Given the description of an element on the screen output the (x, y) to click on. 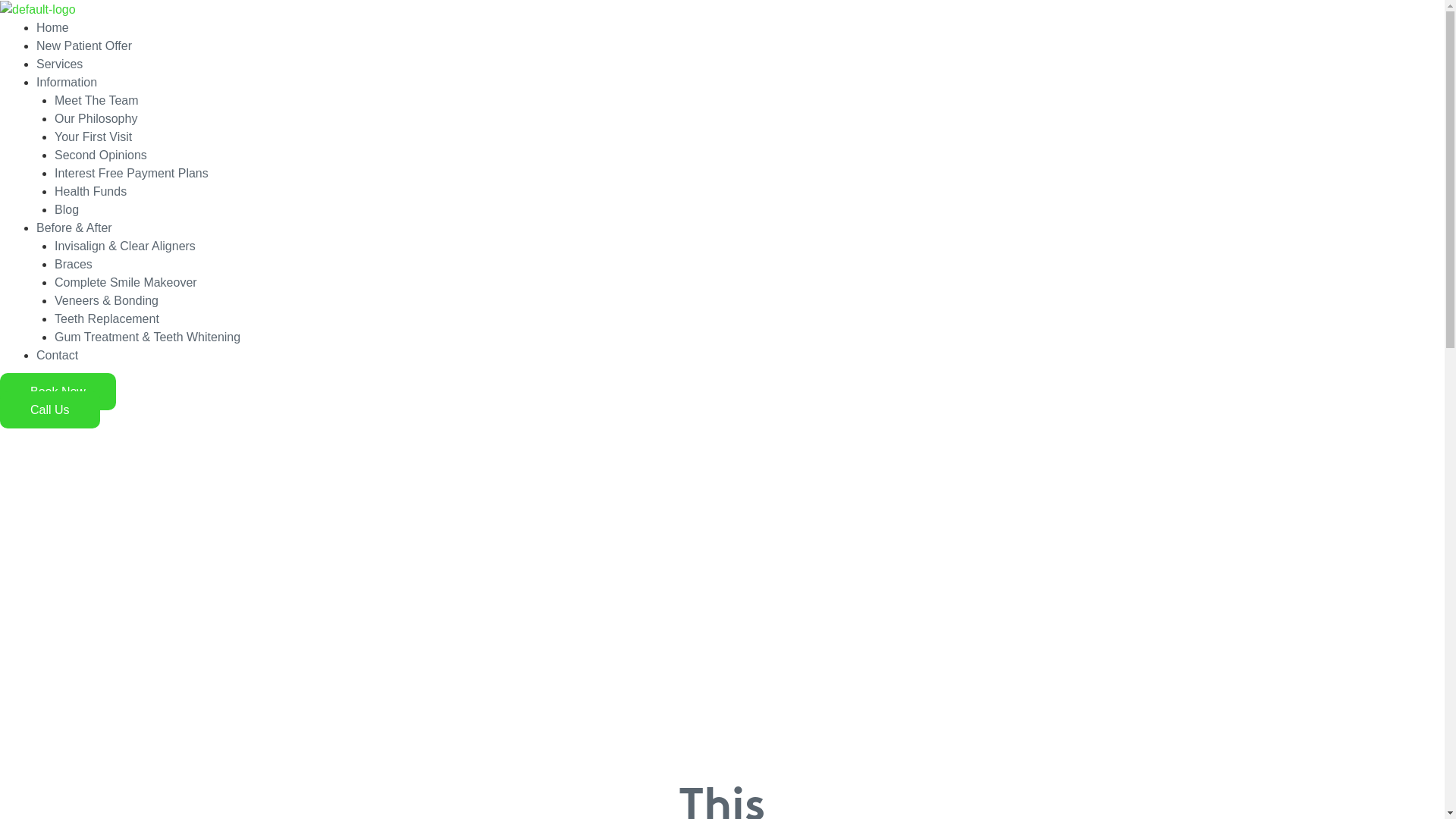
Teeth Replacement Element type: text (106, 318)
Your First Visit Element type: text (92, 136)
Meet The Team Element type: text (96, 100)
Our Philosophy Element type: text (95, 118)
Gum Treatment & Teeth Whitening Element type: text (147, 336)
Blog Element type: text (66, 209)
Braces Element type: text (73, 263)
Interest Free Payment Plans Element type: text (131, 172)
Invisalign & Clear Aligners Element type: text (124, 245)
Second Opinions Element type: text (100, 154)
Veneers & Bonding Element type: text (106, 300)
Services Element type: text (59, 63)
Book Now Element type: text (58, 391)
Before & After Element type: text (74, 227)
Information Element type: text (66, 81)
Home Element type: text (52, 27)
Call Us Element type: text (50, 409)
Contact Element type: text (57, 354)
Health Funds Element type: text (90, 191)
Complete Smile Makeover Element type: text (125, 282)
New Patient Offer Element type: text (83, 45)
